Given the description of an element on the screen output the (x, y) to click on. 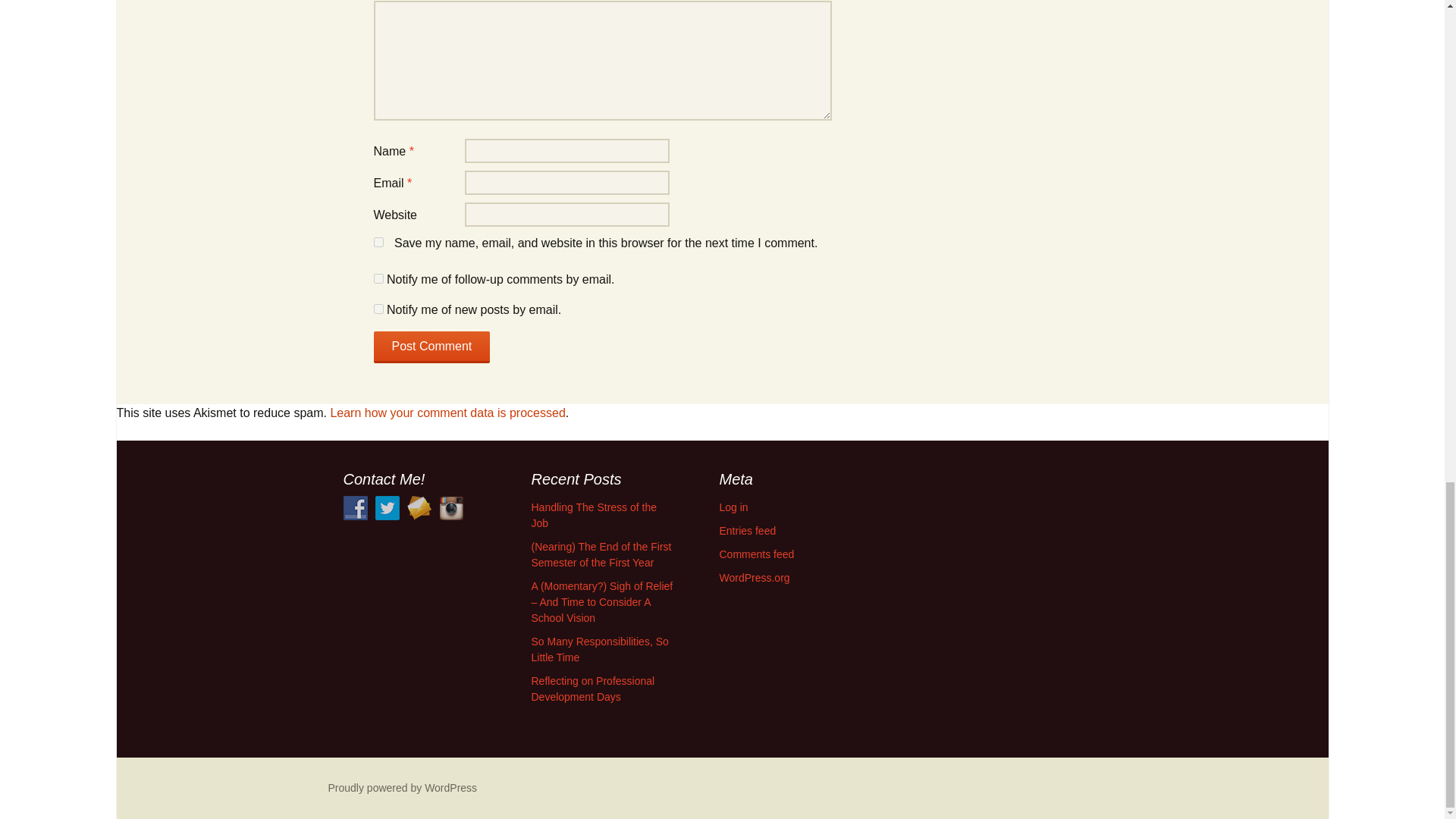
Follow Me! Instagram (450, 508)
subscribe (377, 308)
Follow Me! Facebook (354, 508)
yes (377, 242)
Post Comment (430, 347)
Follow Me! E-mail (418, 508)
subscribe (377, 278)
Follow Me! Twitter (386, 508)
